Given the description of an element on the screen output the (x, y) to click on. 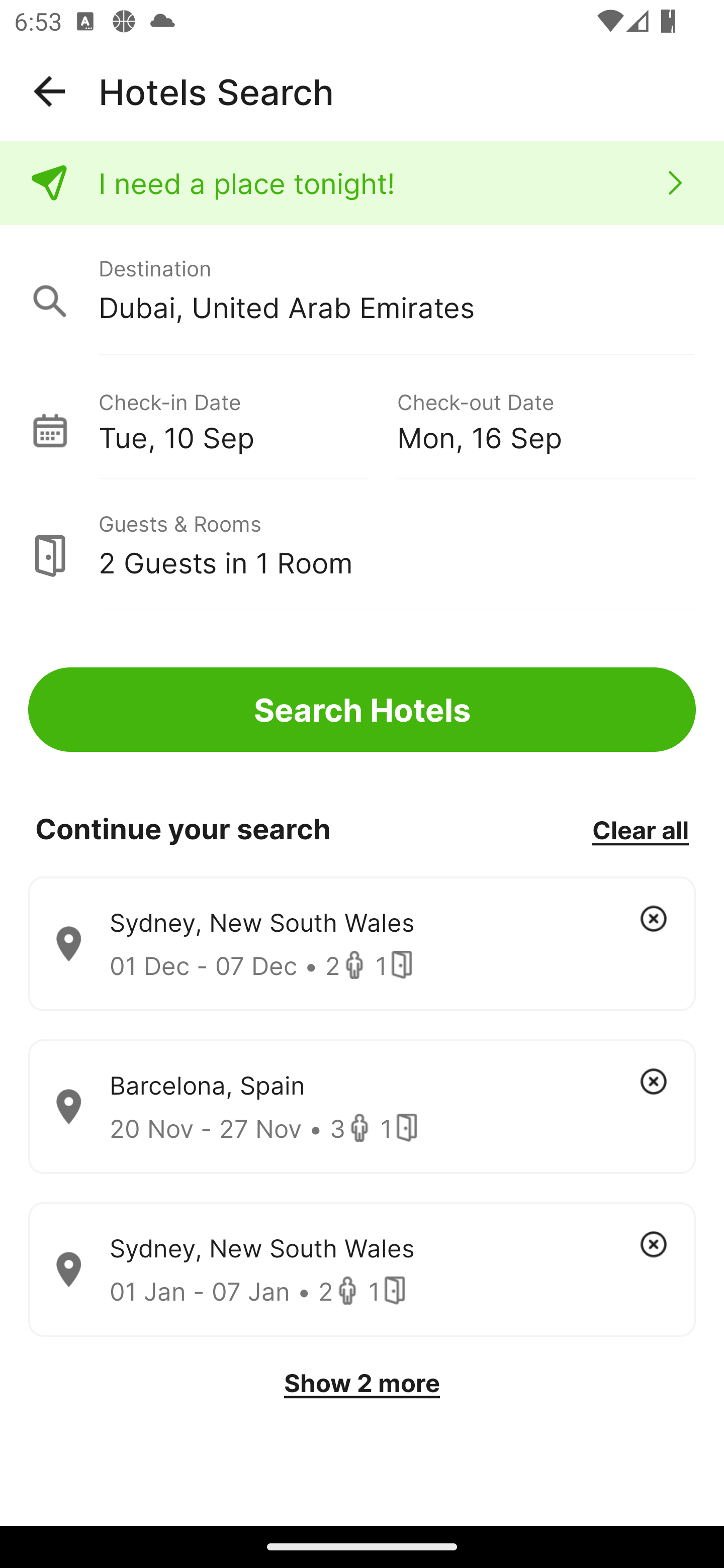
I need a place tonight! (362, 183)
Destination Dubai, United Arab Emirates (362, 290)
Check-in Date Tue, 10 Sep (247, 418)
Check-out Date Mon, 16 Sep (546, 418)
Guests & Rooms 2 Guests in 1 Room (362, 545)
Search Hotels (361, 709)
Clear all (640, 829)
Sydney, New South Wales 01 Dec - 07 Dec • 2  1  (361, 943)
Barcelona, Spain 20 Nov - 27 Nov • 3  1  (361, 1106)
Sydney, New South Wales 01 Jan - 07 Jan • 2  1  (361, 1269)
Show 2 more (362, 1382)
